Given the description of an element on the screen output the (x, y) to click on. 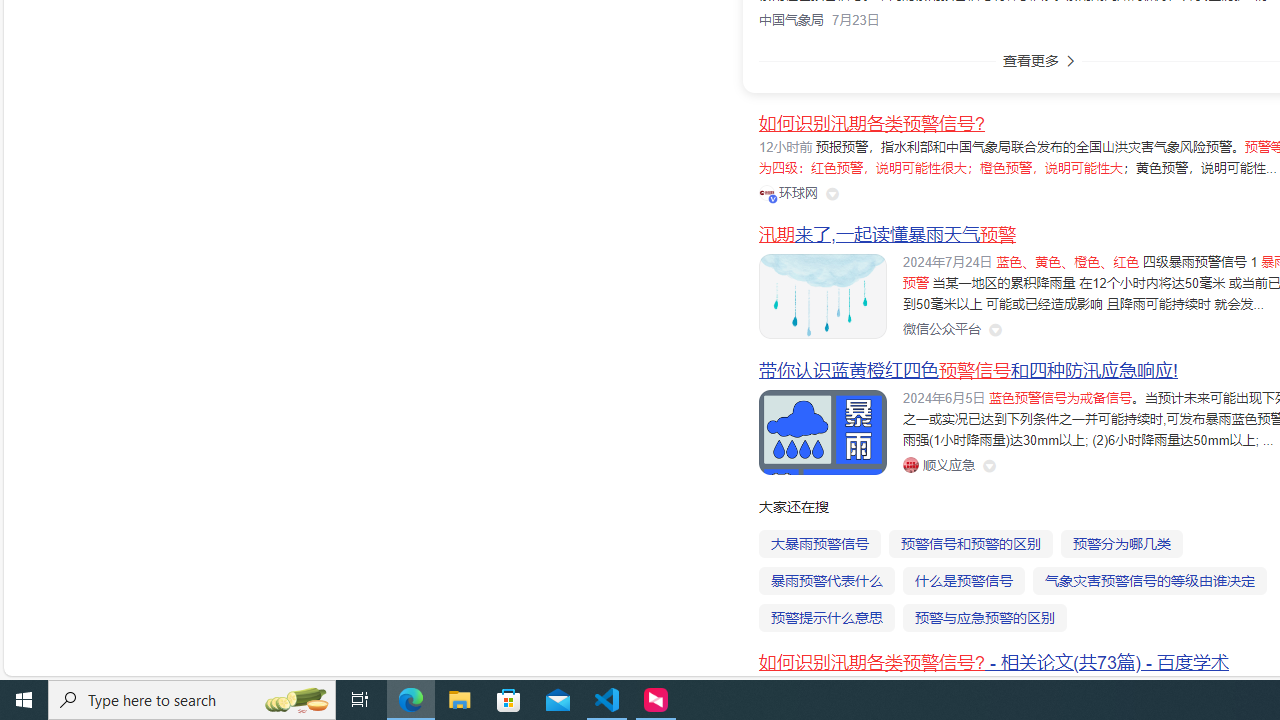
Class: siteLink_9TPP3 (938, 465)
Class: vip-icon_kNmNt (773, 198)
